Given the description of an element on the screen output the (x, y) to click on. 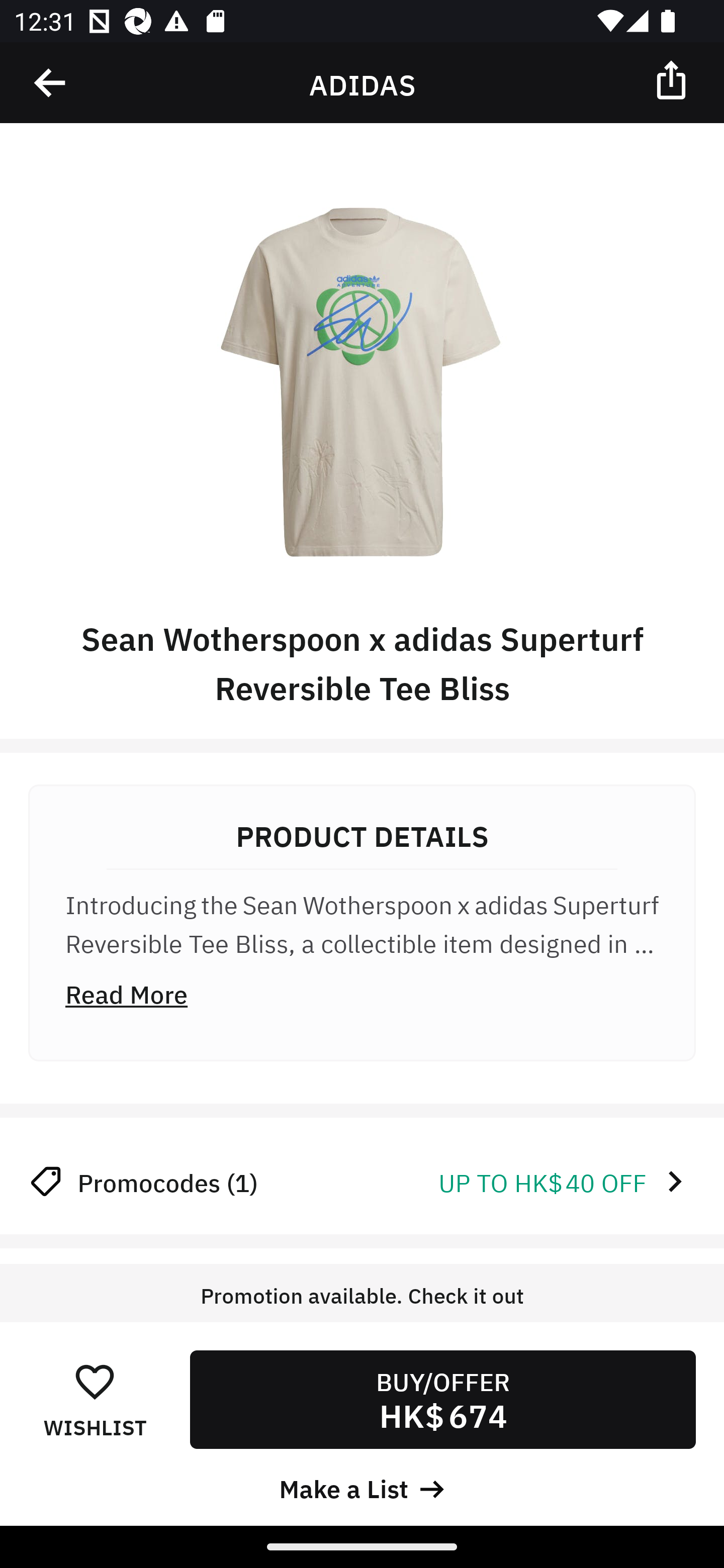
 (50, 83)
 (672, 79)
Promocodes (1) UP TO HK$ 40 OFF  (361, 1181)
BUY/OFFER HK$ 674 (442, 1399)
󰋕 (94, 1380)
Make a List (361, 1486)
